Given the description of an element on the screen output the (x, y) to click on. 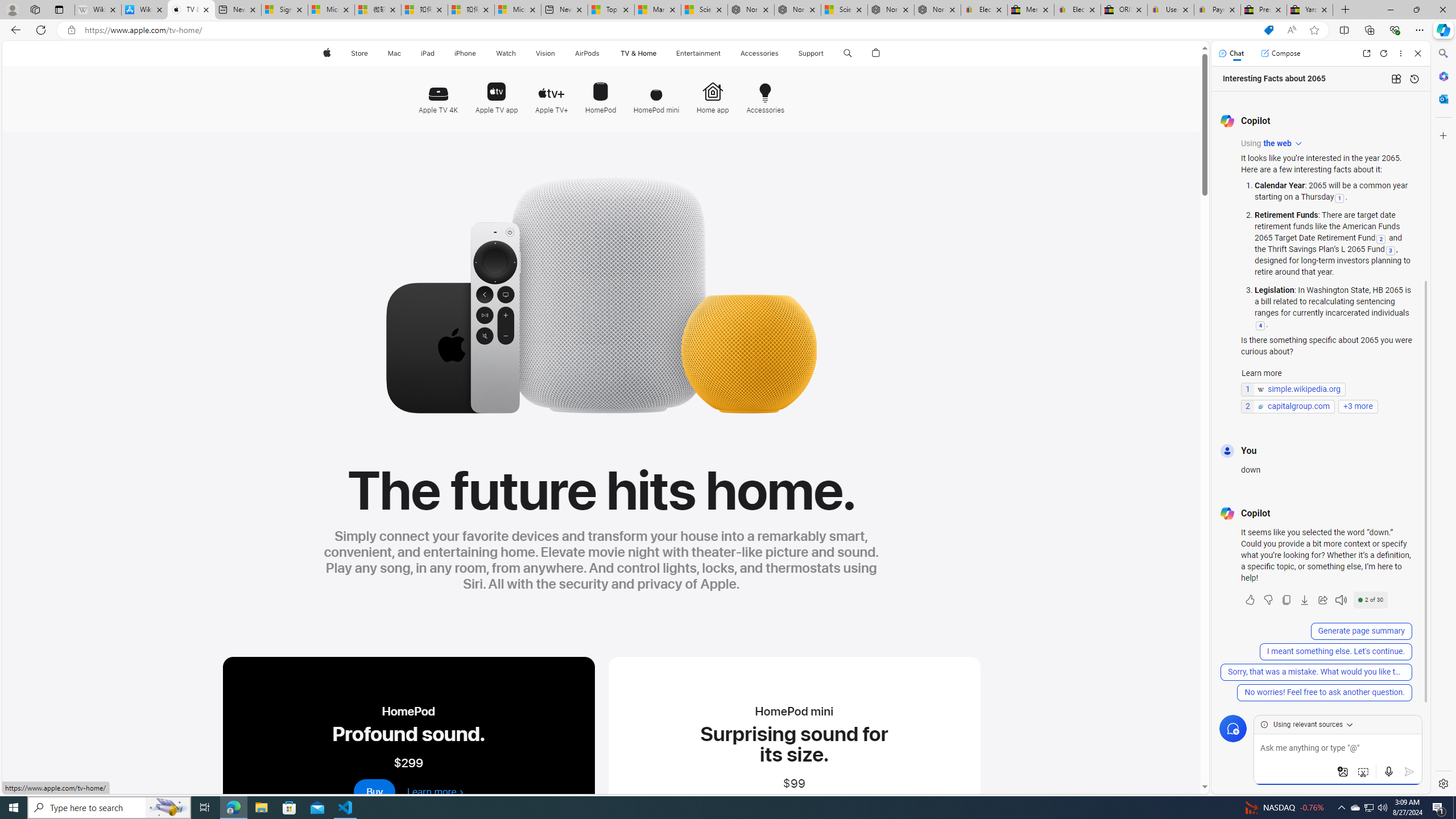
Entertainment (698, 53)
Entertainment (698, 53)
